Given the description of an element on the screen output the (x, y) to click on. 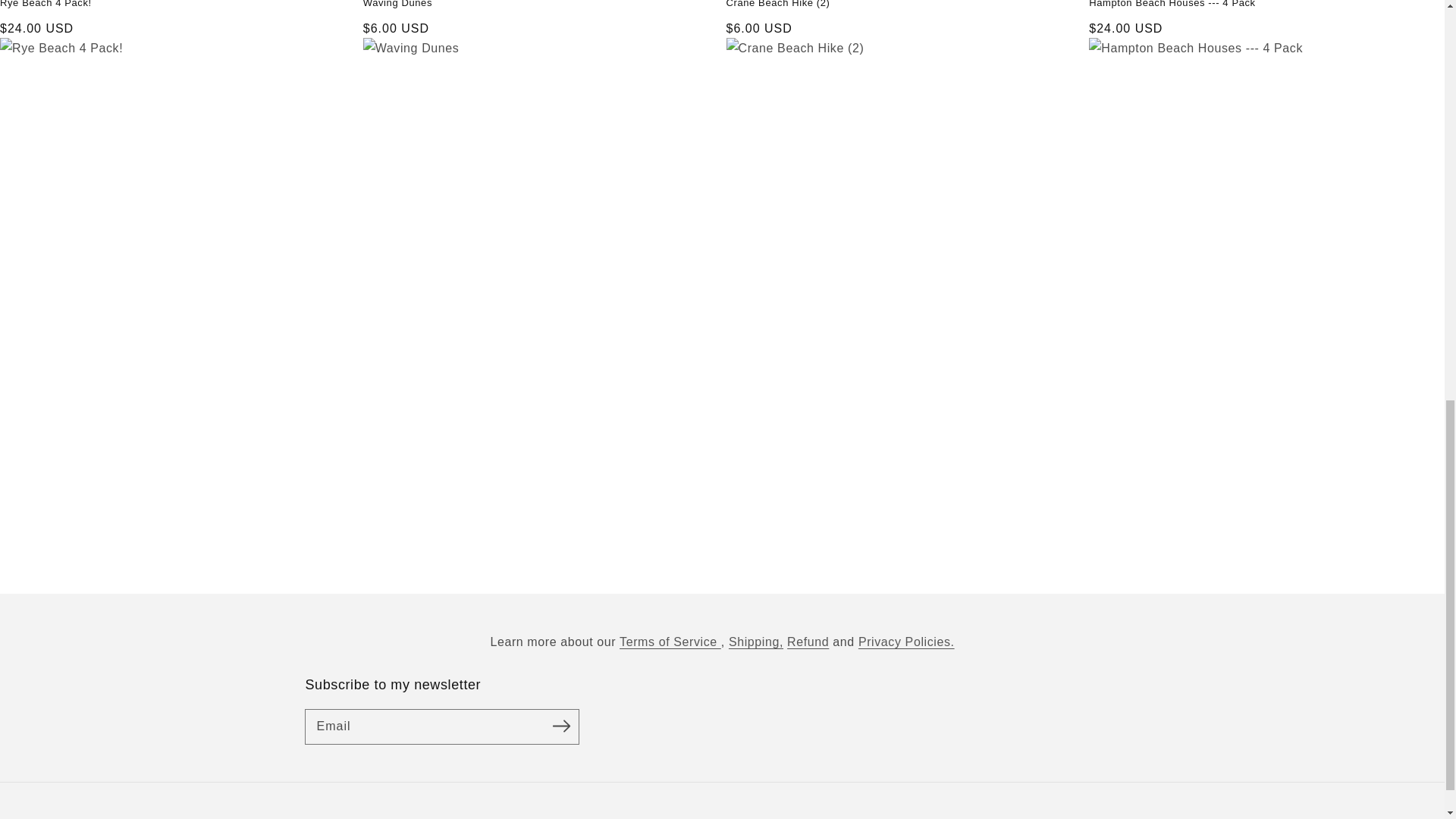
Privacy Policy (907, 641)
Shipping Policy (756, 641)
Terms of Service (670, 641)
Refund Policy (807, 641)
